Given the description of an element on the screen output the (x, y) to click on. 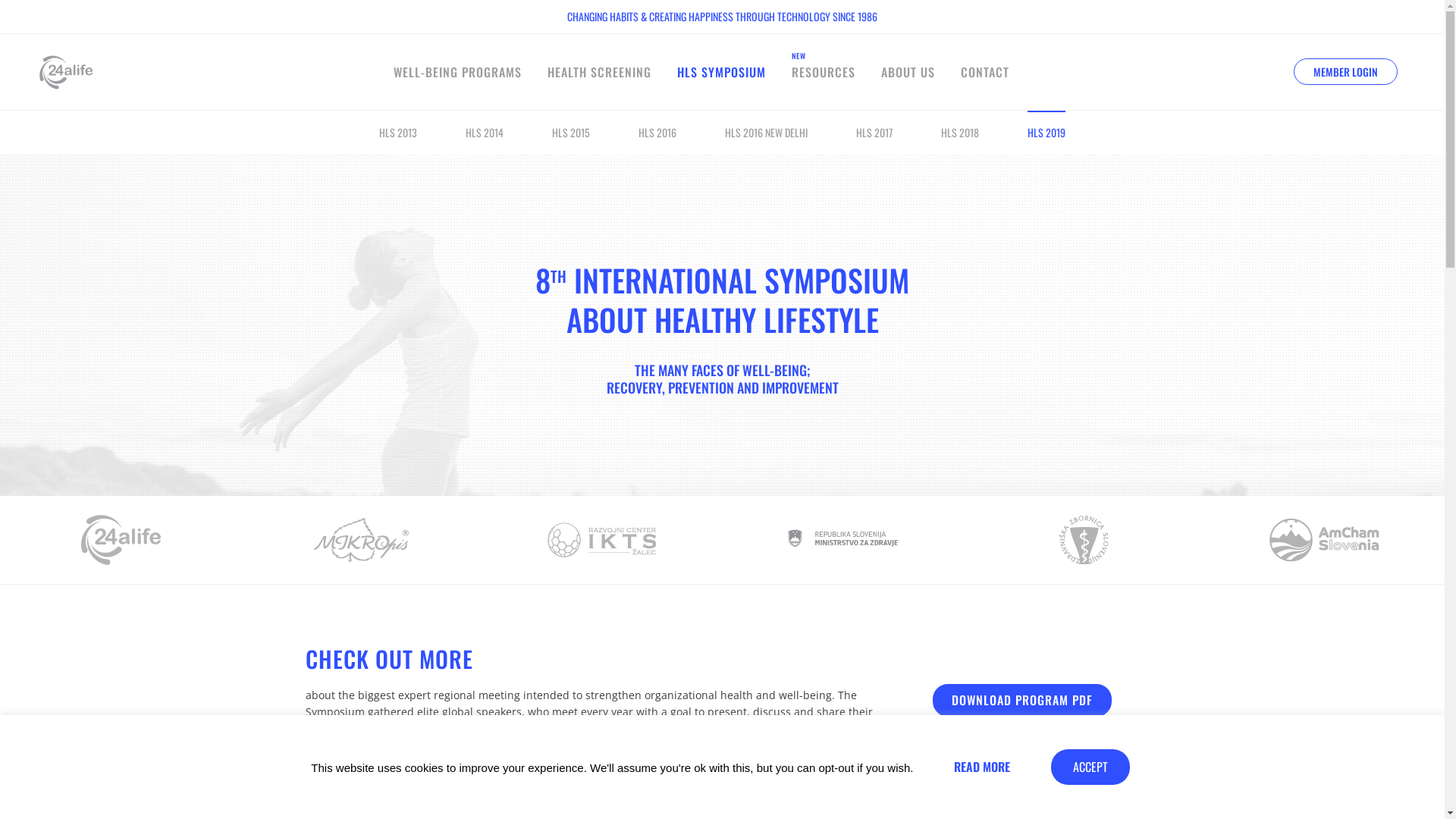
MEMBER LOGIN Element type: text (1345, 70)
HLS 2017 Element type: text (874, 132)
HLS 2019 Element type: text (1046, 132)
WELL-BEING PROGRAMS Element type: text (457, 71)
HLS 2013 Element type: text (398, 132)
HLS 2016 Element type: text (657, 132)
HLS 2016 NEW DELHI Element type: text (765, 132)
ACCEPT Element type: text (1090, 766)
HLS 2014 Element type: text (484, 132)
HLS 2015 Element type: text (570, 132)
RESOURCES
NEW Element type: text (823, 71)
ABOUT US Element type: text (907, 71)
READ MORE Element type: text (981, 766)
HLS 2018 Element type: text (960, 132)
HEALTH SCREENING Element type: text (599, 71)
DOWNLOAD PROGRAM PDF Element type: text (1022, 700)
CONTACT Element type: text (984, 71)
HLS SYMPOSIUM Element type: text (721, 71)
